Given the description of an element on the screen output the (x, y) to click on. 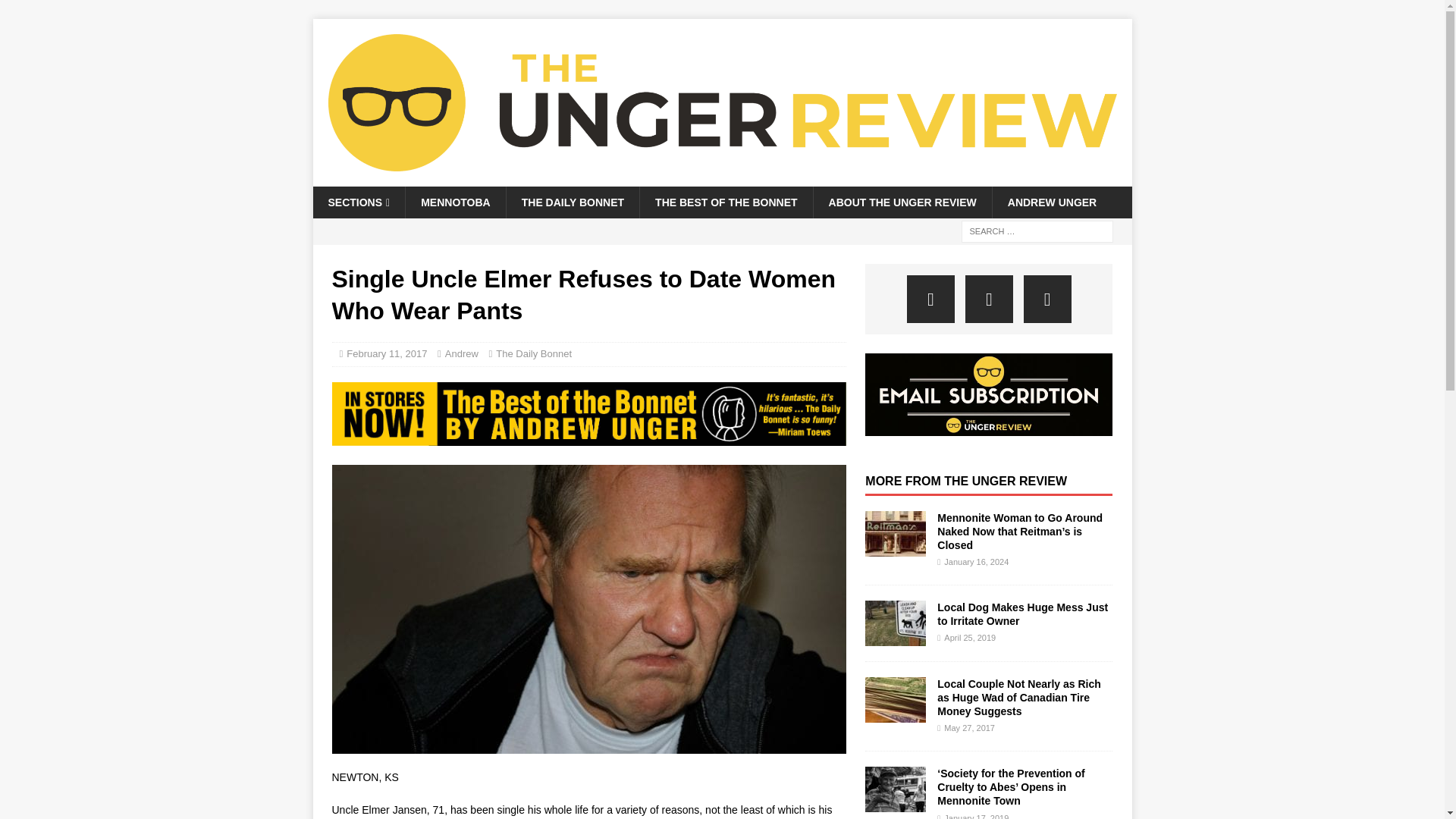
THE DAILY BONNET (572, 202)
Andrew (462, 353)
February 11, 2017 (386, 353)
ABOUT THE UNGER REVIEW (901, 202)
ANDREW UNGER (1051, 202)
Search (56, 11)
SECTIONS (358, 202)
The Daily Bonnet (534, 353)
MENNOTOBA (454, 202)
THE BEST OF THE BONNET (725, 202)
